Given the description of an element on the screen output the (x, y) to click on. 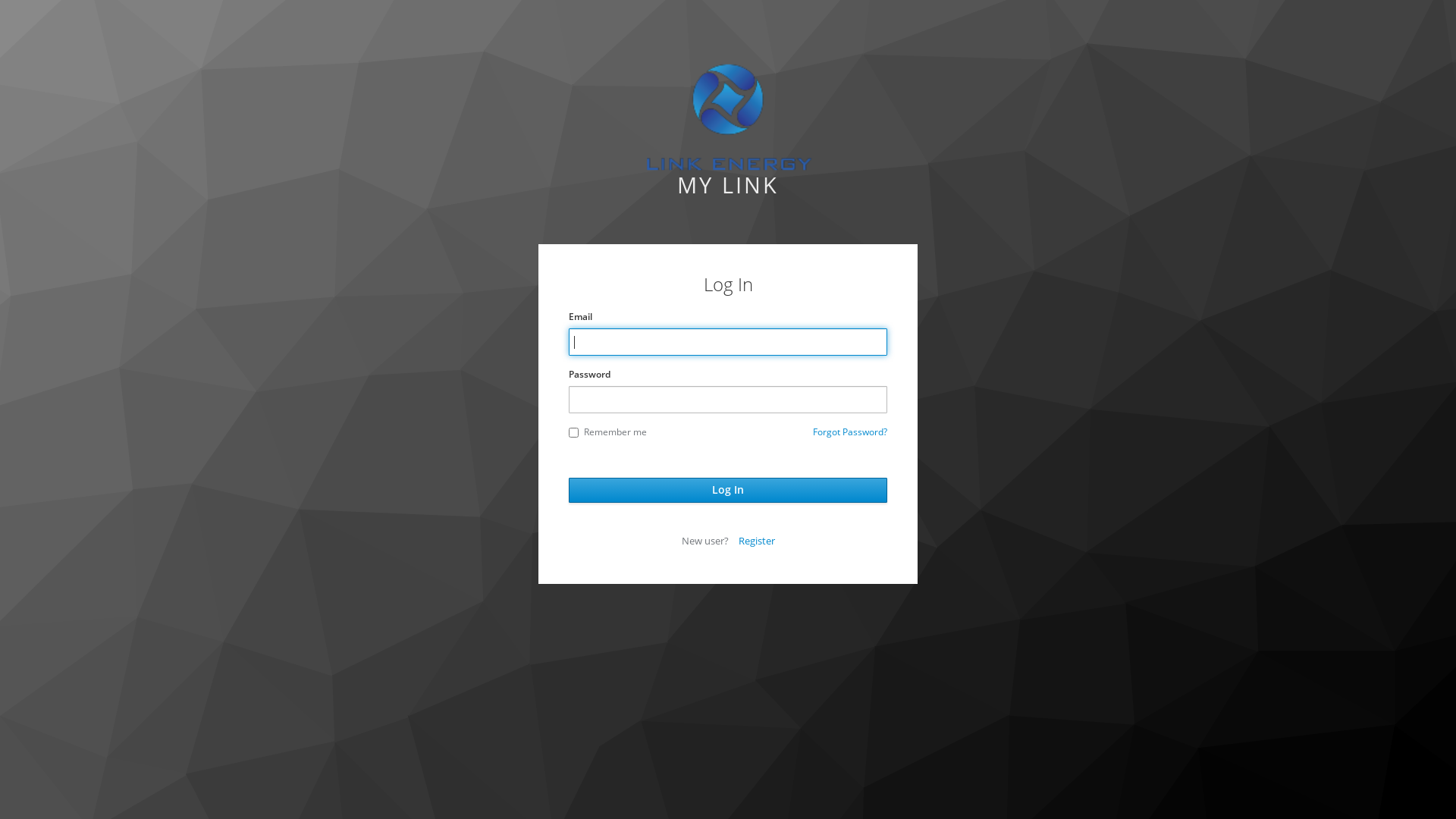
Log In Element type: text (727, 489)
Forgot Password? Element type: text (849, 431)
Register Element type: text (756, 540)
